Given the description of an element on the screen output the (x, y) to click on. 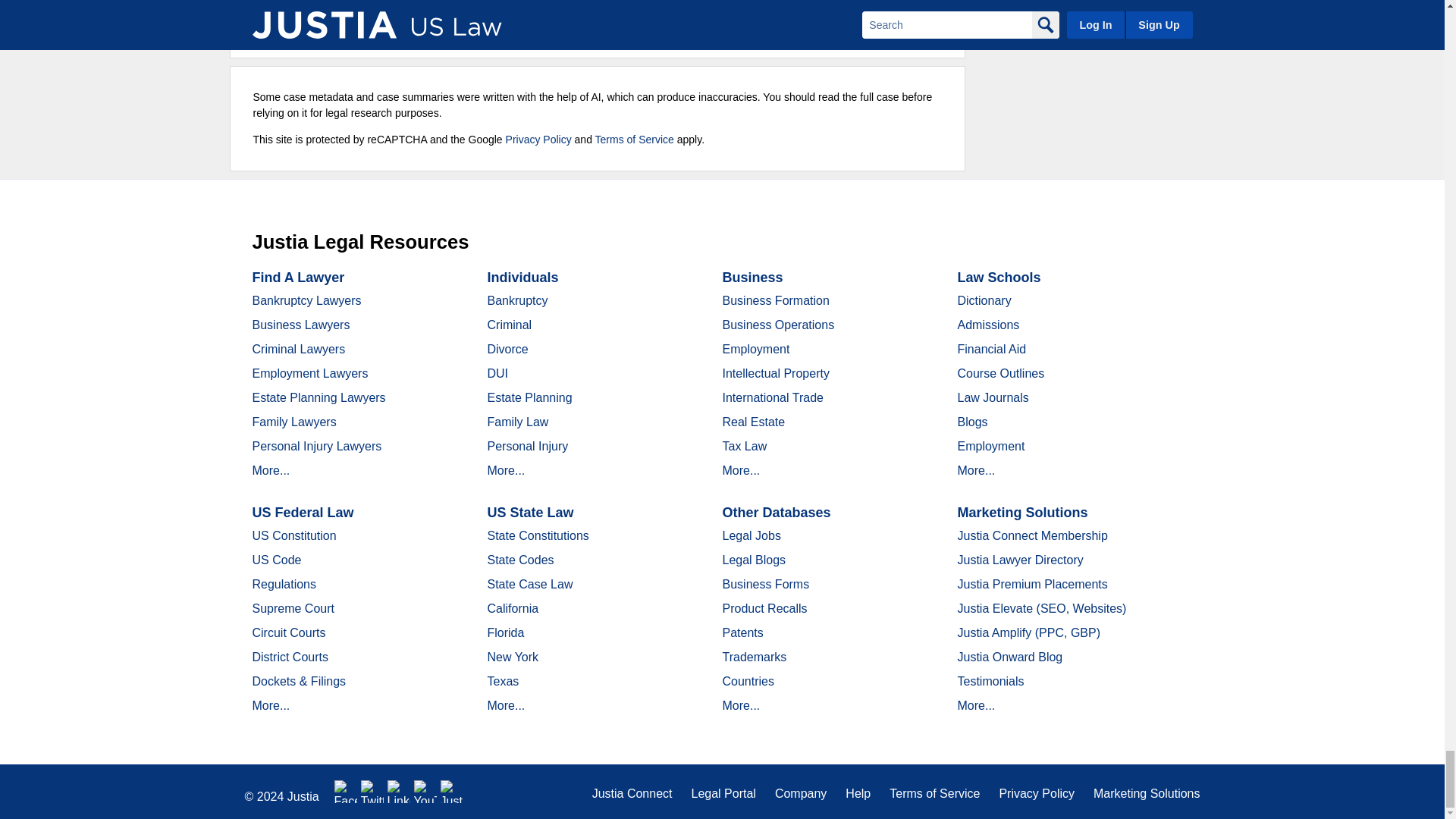
LinkedIn (398, 791)
Twitter (372, 791)
Facebook (345, 791)
